Given the description of an element on the screen output the (x, y) to click on. 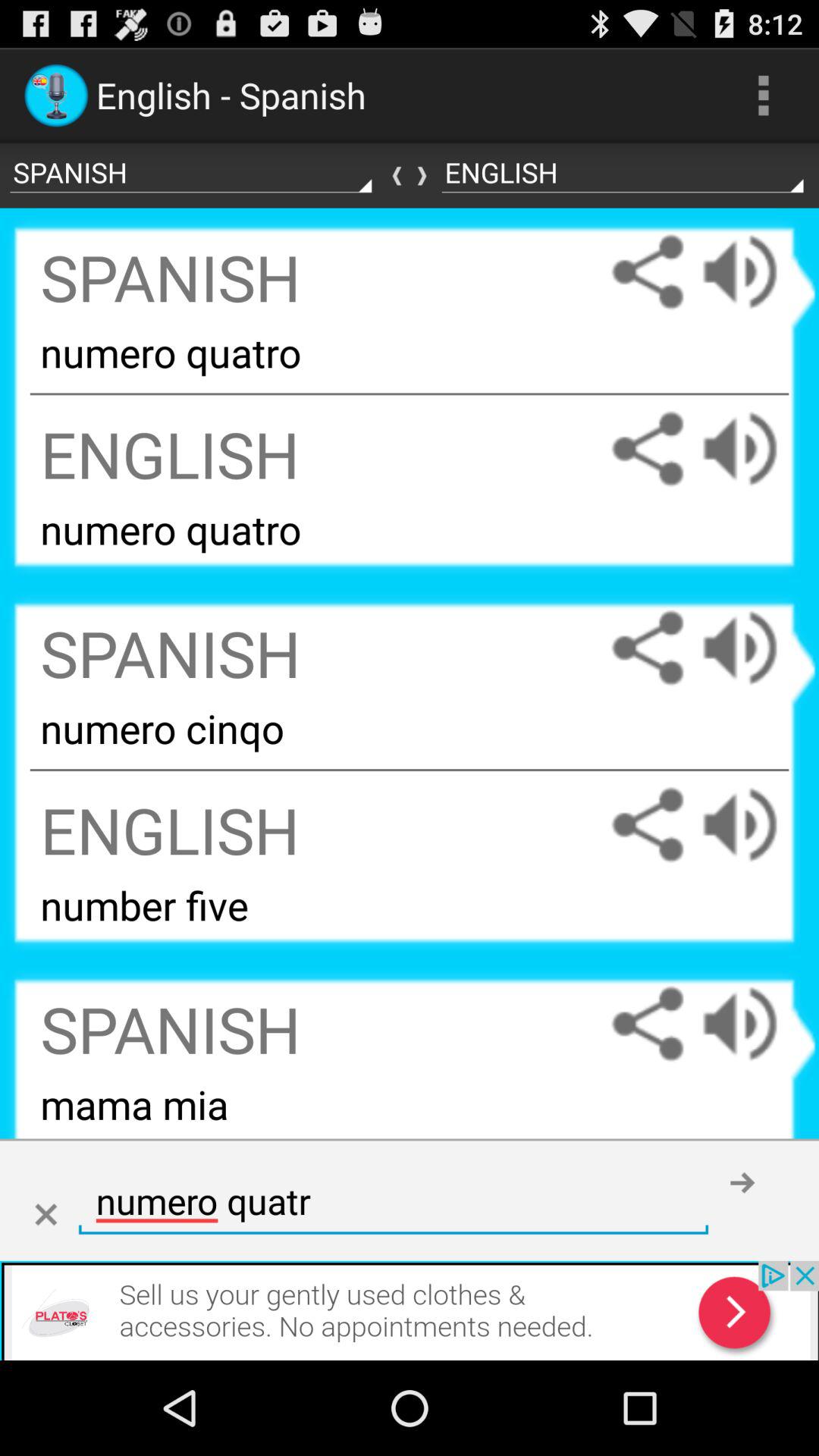
to close an add (45, 1214)
